Given the description of an element on the screen output the (x, y) to click on. 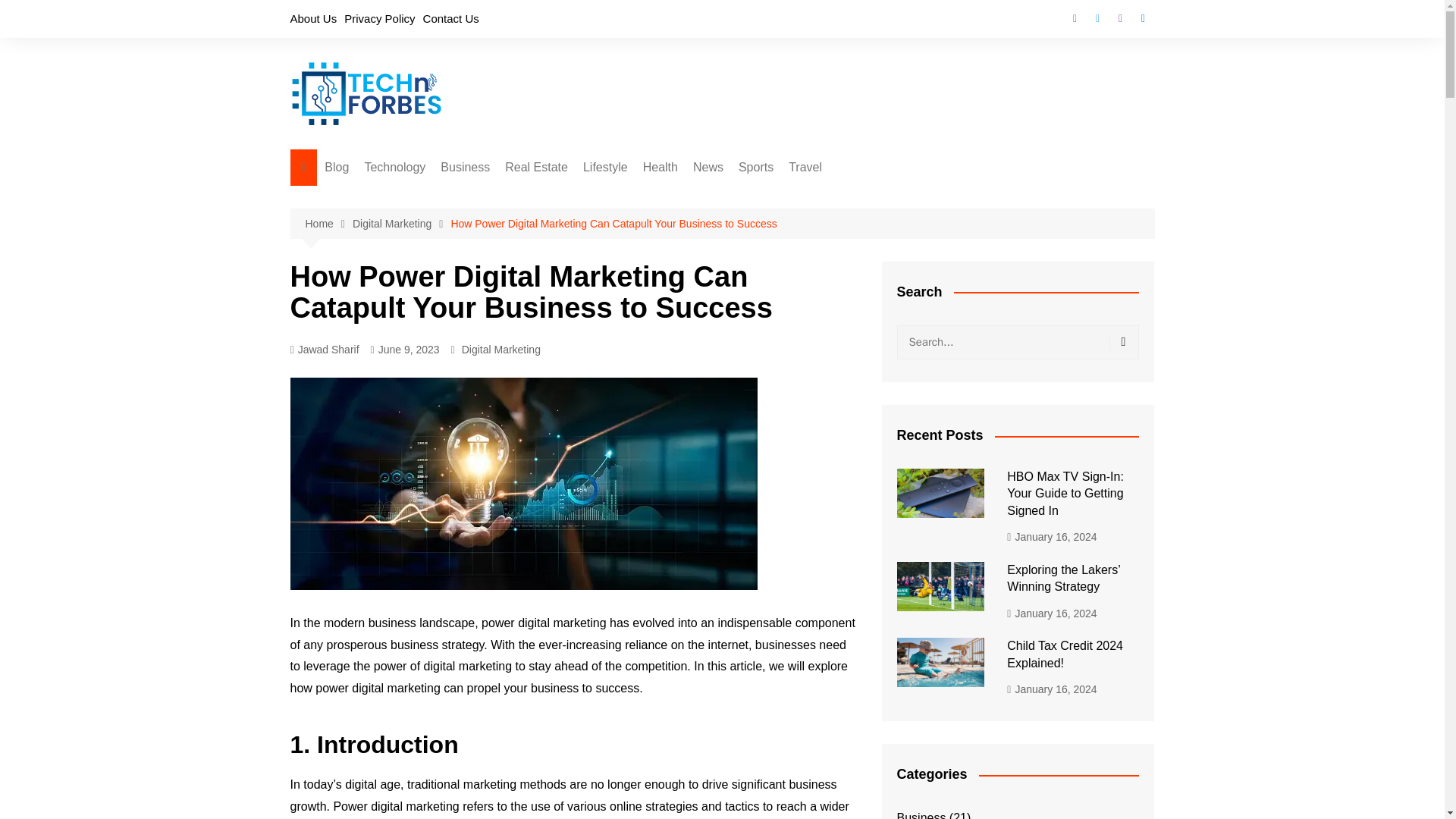
Digital Marketing (500, 349)
Jawad Sharif (323, 349)
Health (659, 167)
Fashion (658, 197)
Linkedin (1142, 18)
Contact Us (451, 18)
Travel (804, 167)
Digital Marketing (515, 197)
Real Estate (536, 167)
About Us (312, 18)
Software (439, 197)
Sports (755, 167)
June 9, 2023 (405, 349)
Blog (336, 167)
Technology (394, 167)
